Given the description of an element on the screen output the (x, y) to click on. 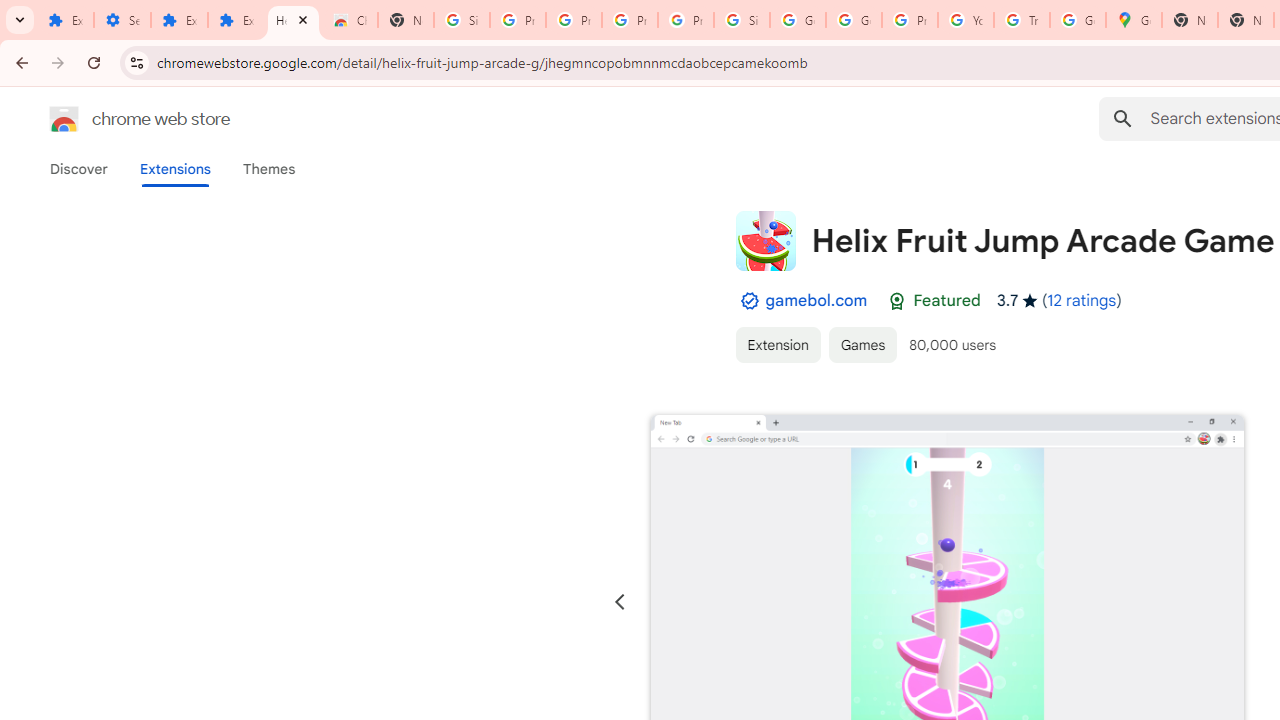
By Established Publisher Badge (749, 301)
Extensions (235, 20)
New Tab (405, 20)
Chrome Web Store logo chrome web store (118, 118)
gamebol.com (816, 300)
Featured Badge (897, 301)
Sign in - Google Accounts (461, 20)
Discover (79, 169)
Chrome Web Store logo (63, 118)
